Given the description of an element on the screen output the (x, y) to click on. 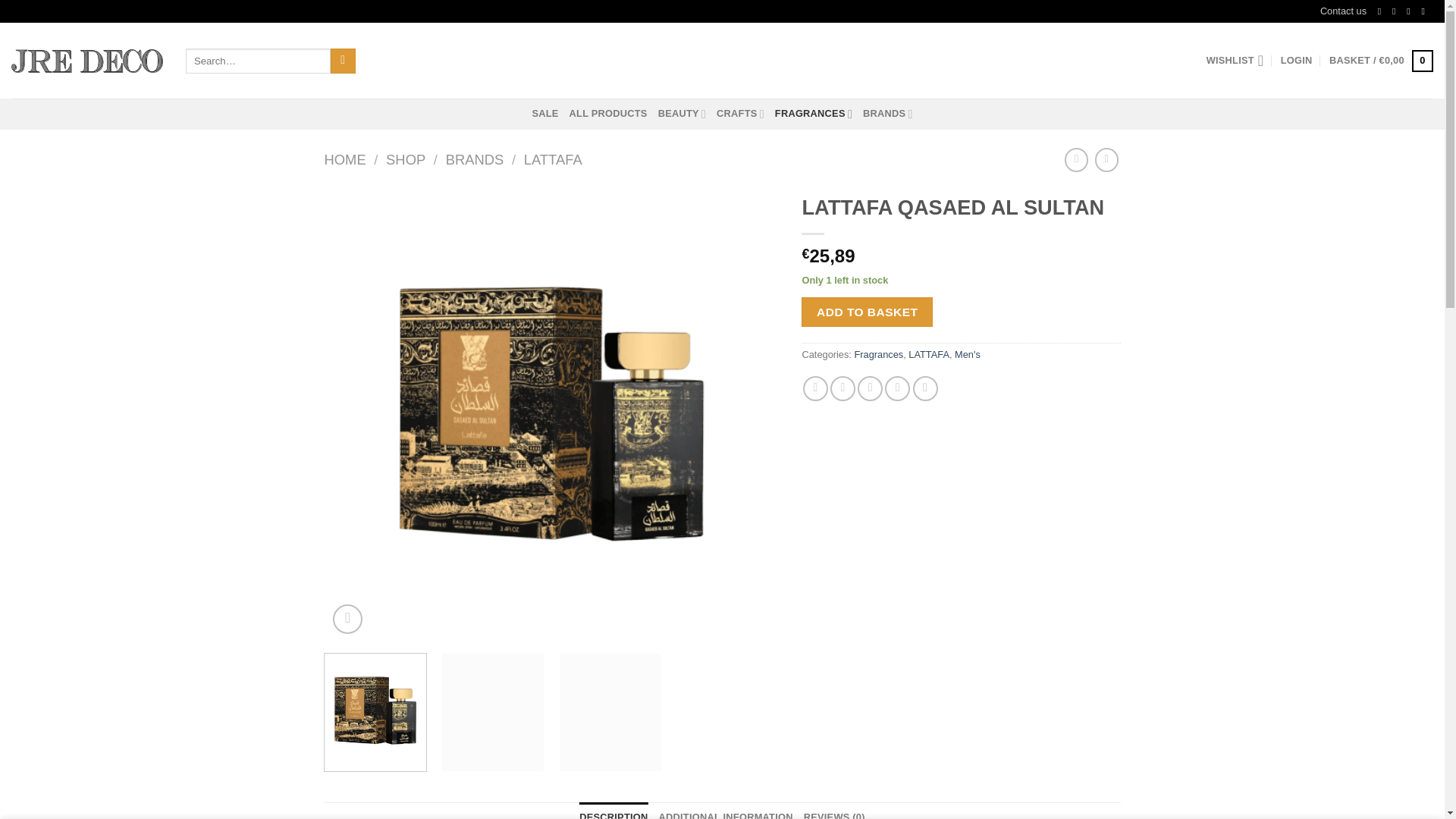
Login (1297, 60)
Contact us (1343, 11)
ALL PRODUCTS (608, 113)
BEAUTY (682, 113)
Search (342, 61)
Zoom (347, 618)
Wishlist (1235, 60)
Basket (1380, 61)
WISHLIST (1235, 60)
LOGIN (1297, 60)
